Given the description of an element on the screen output the (x, y) to click on. 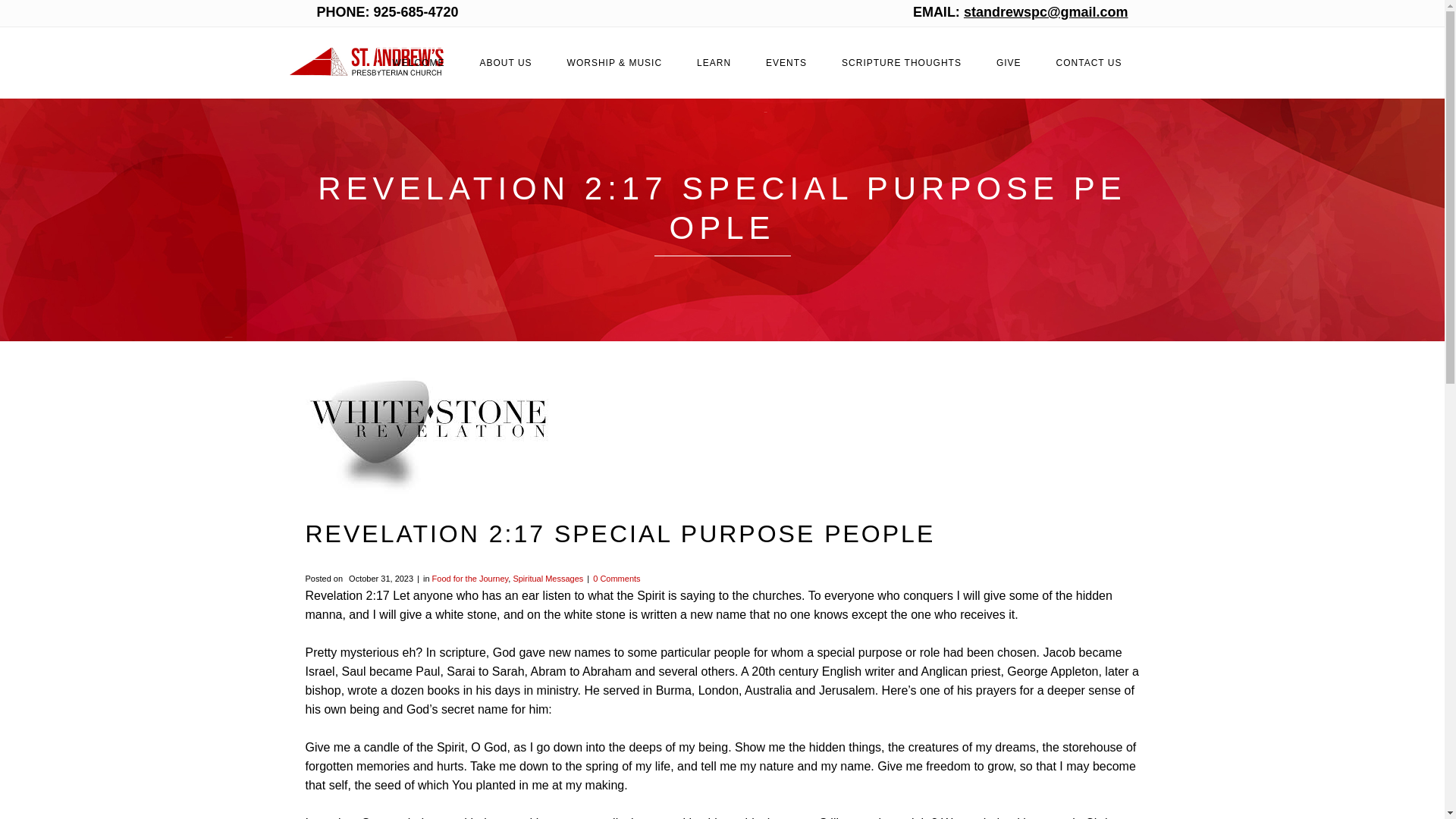
ABOUT US (505, 62)
Food for the Journey (470, 578)
EVENTS (786, 62)
WELCOME (418, 62)
CONTACT US (1089, 62)
LEARN (713, 62)
SCRIPTURE THOUGHTS (901, 62)
0 Comments (616, 578)
Spiritual Messages (547, 578)
